Given the description of an element on the screen output the (x, y) to click on. 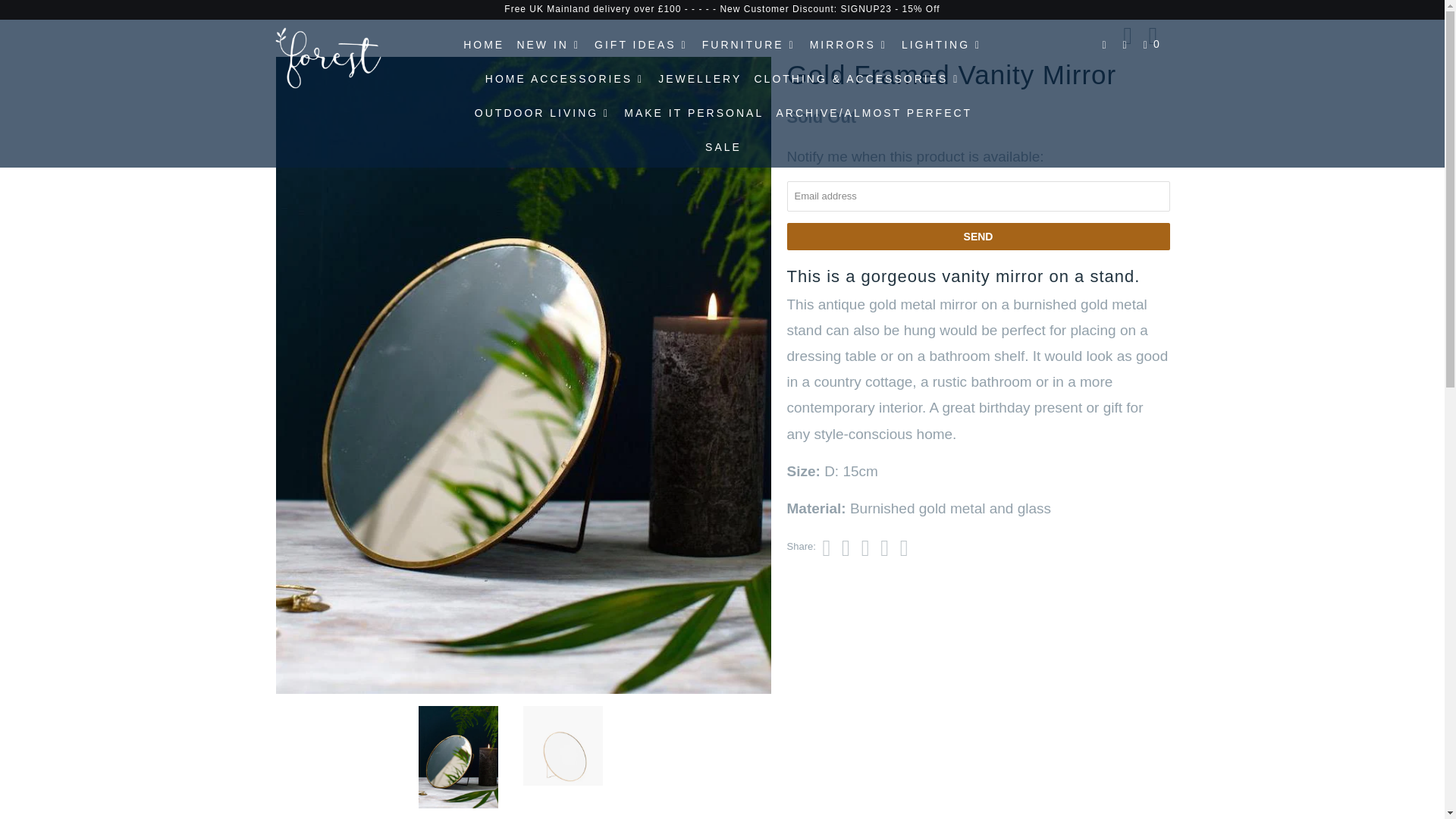
Send (978, 236)
